Given the description of an element on the screen output the (x, y) to click on. 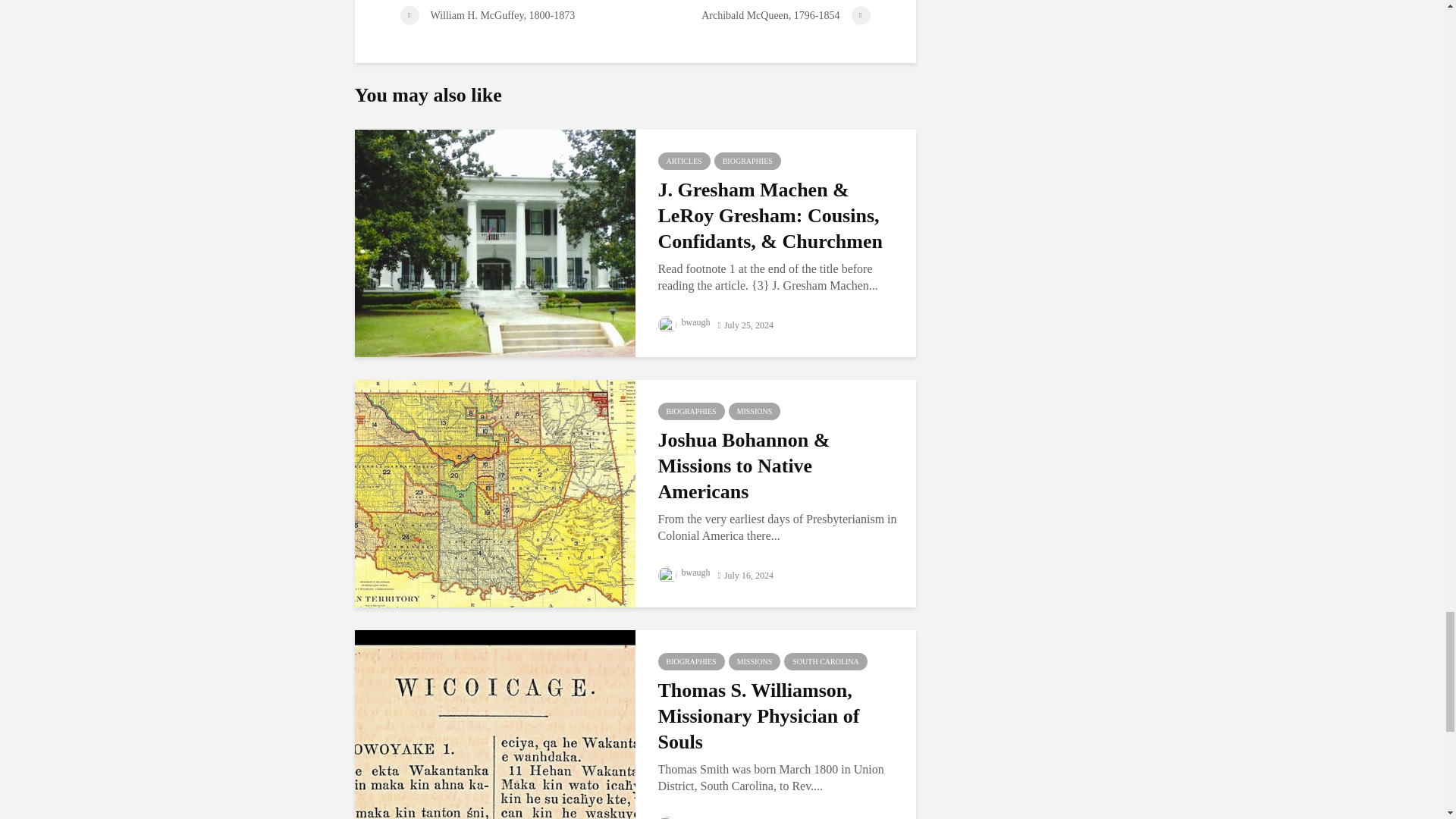
Thomas S. Williamson, Missionary Physician of Souls (494, 742)
